Given the description of an element on the screen output the (x, y) to click on. 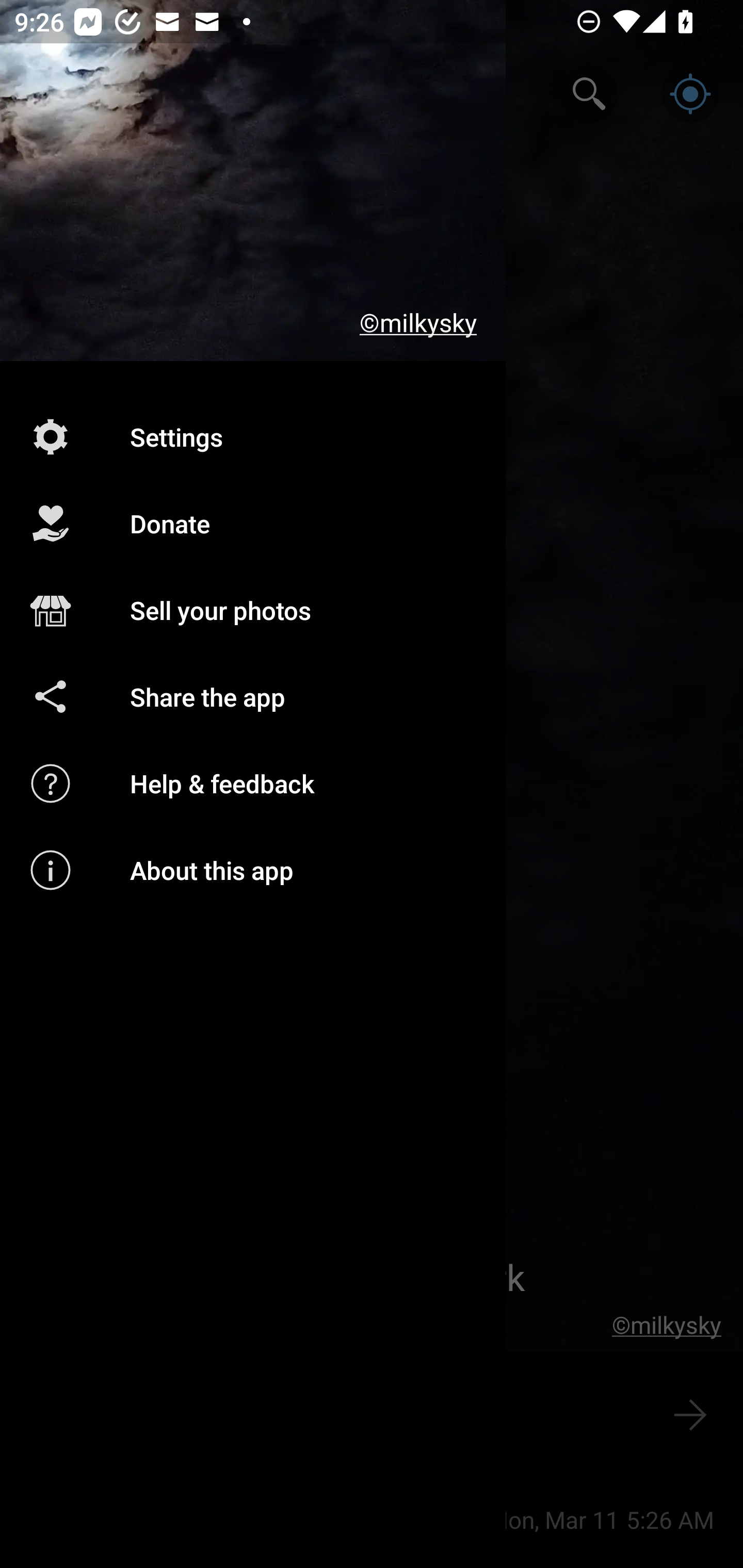
Settings (252, 436)
Donate (252, 523)
Sell your photos (252, 610)
Share the app (252, 696)
Help & feedback (252, 783)
About this app (252, 870)
